Given the description of an element on the screen output the (x, y) to click on. 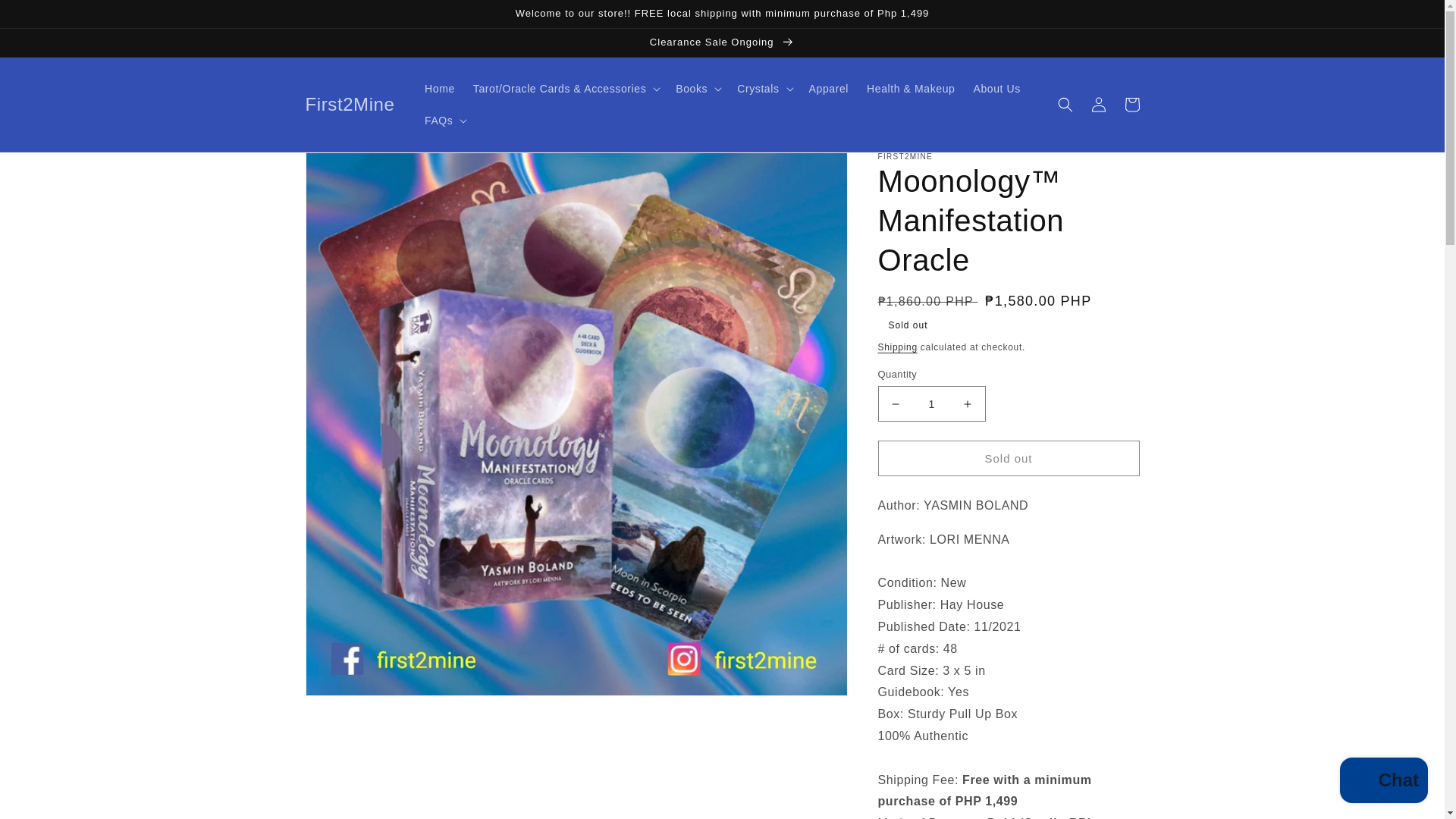
Home (439, 88)
Apparel (828, 88)
1 (931, 403)
Shopify online store chat (1383, 781)
Skip to content (45, 17)
First2Mine (349, 103)
About Us (996, 88)
